Given the description of an element on the screen output the (x, y) to click on. 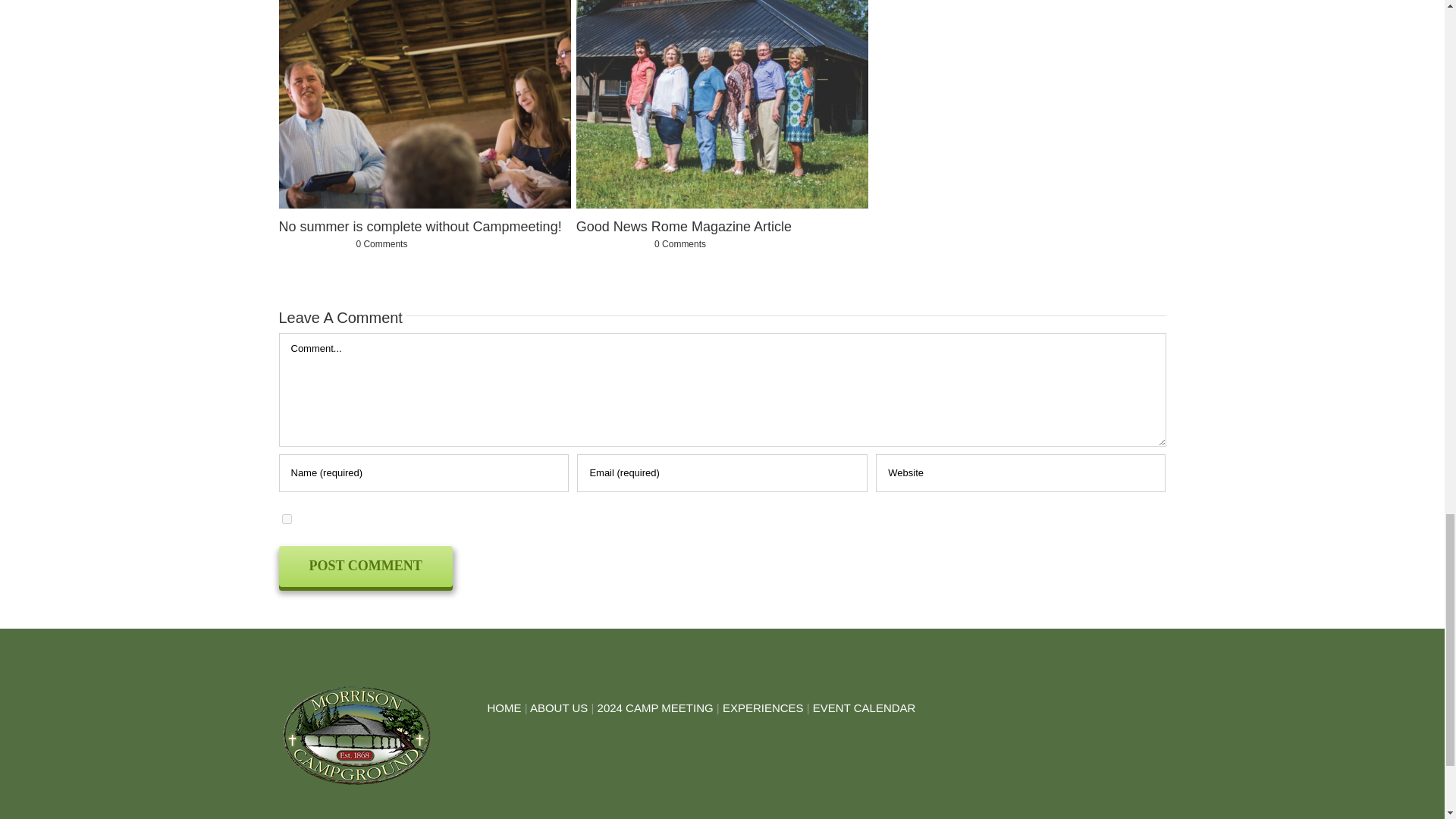
Good News Rome Magazine Article (684, 226)
yes (287, 519)
No summer is complete without Campmeeting! (420, 226)
Post Comment (365, 566)
